Given the description of an element on the screen output the (x, y) to click on. 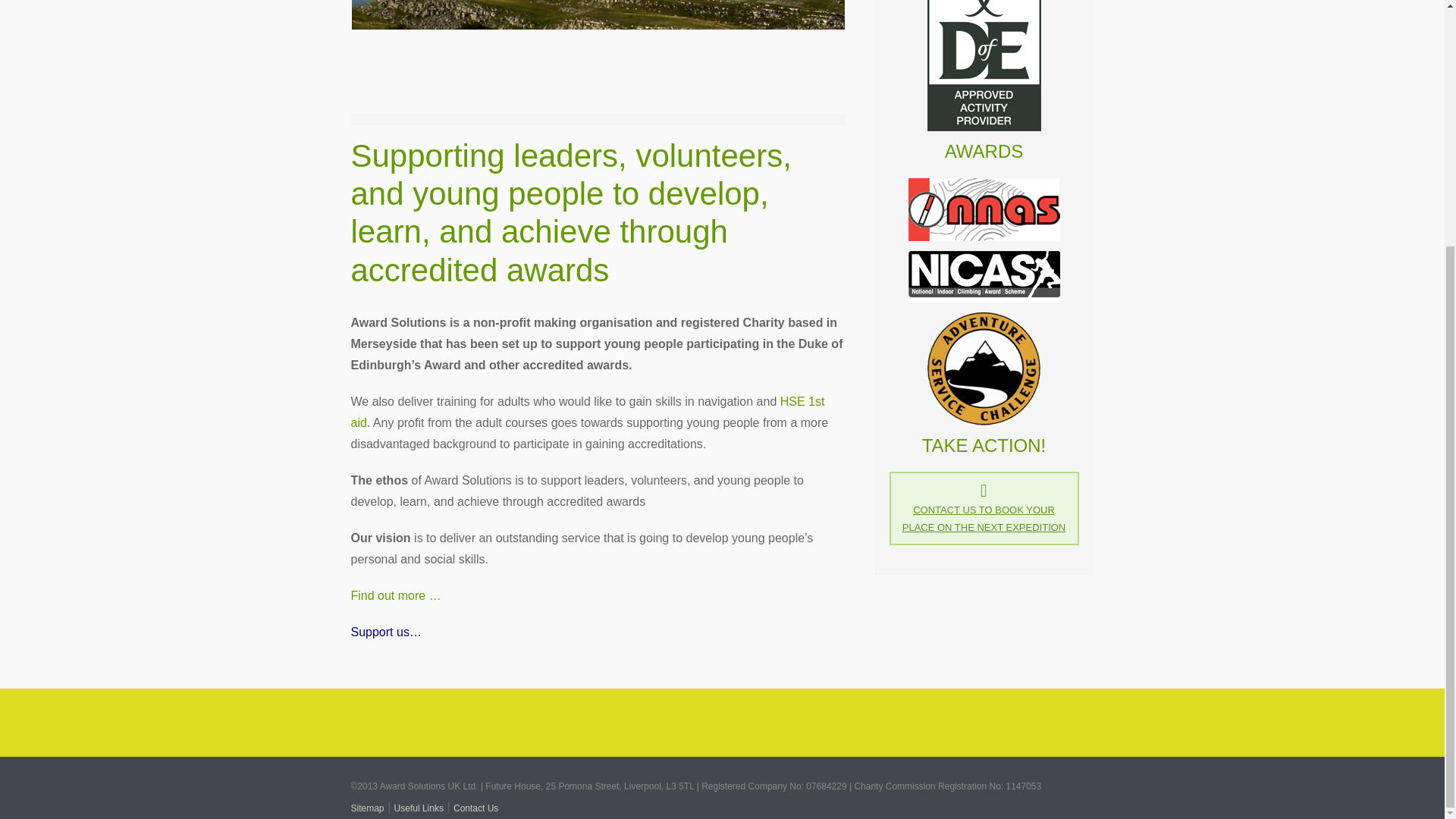
Contact Us (474, 808)
CONTACT US TO BOOK YOUR PLACE ON THE NEXT EXPEDITION (983, 518)
Support us (385, 631)
About Us (395, 594)
HSE 1st aid (587, 411)
Useful Links (419, 808)
First Aid (587, 411)
Sitemap (367, 808)
